Given the description of an element on the screen output the (x, y) to click on. 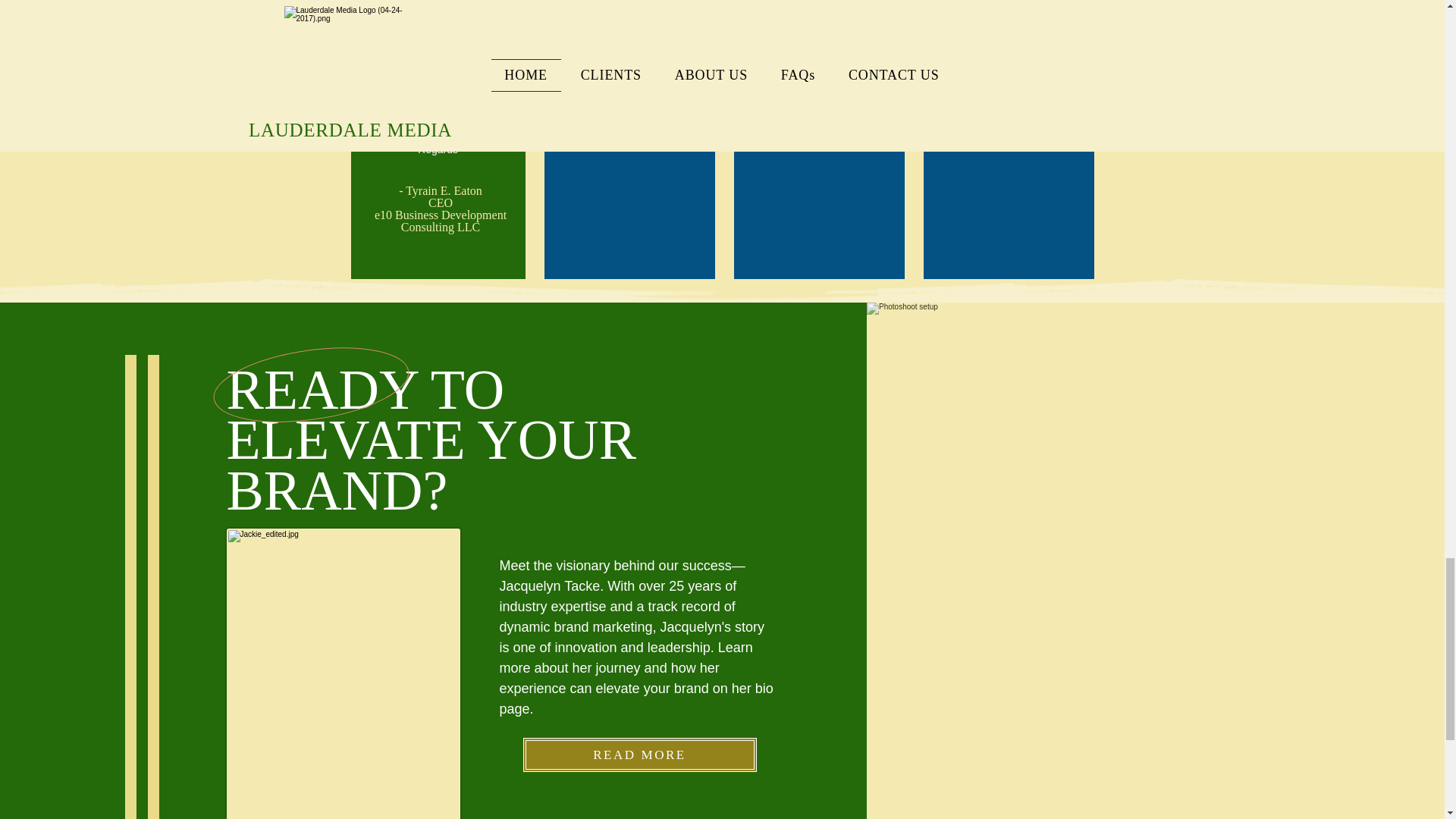
READ MORE (639, 754)
